Given the description of an element on the screen output the (x, y) to click on. 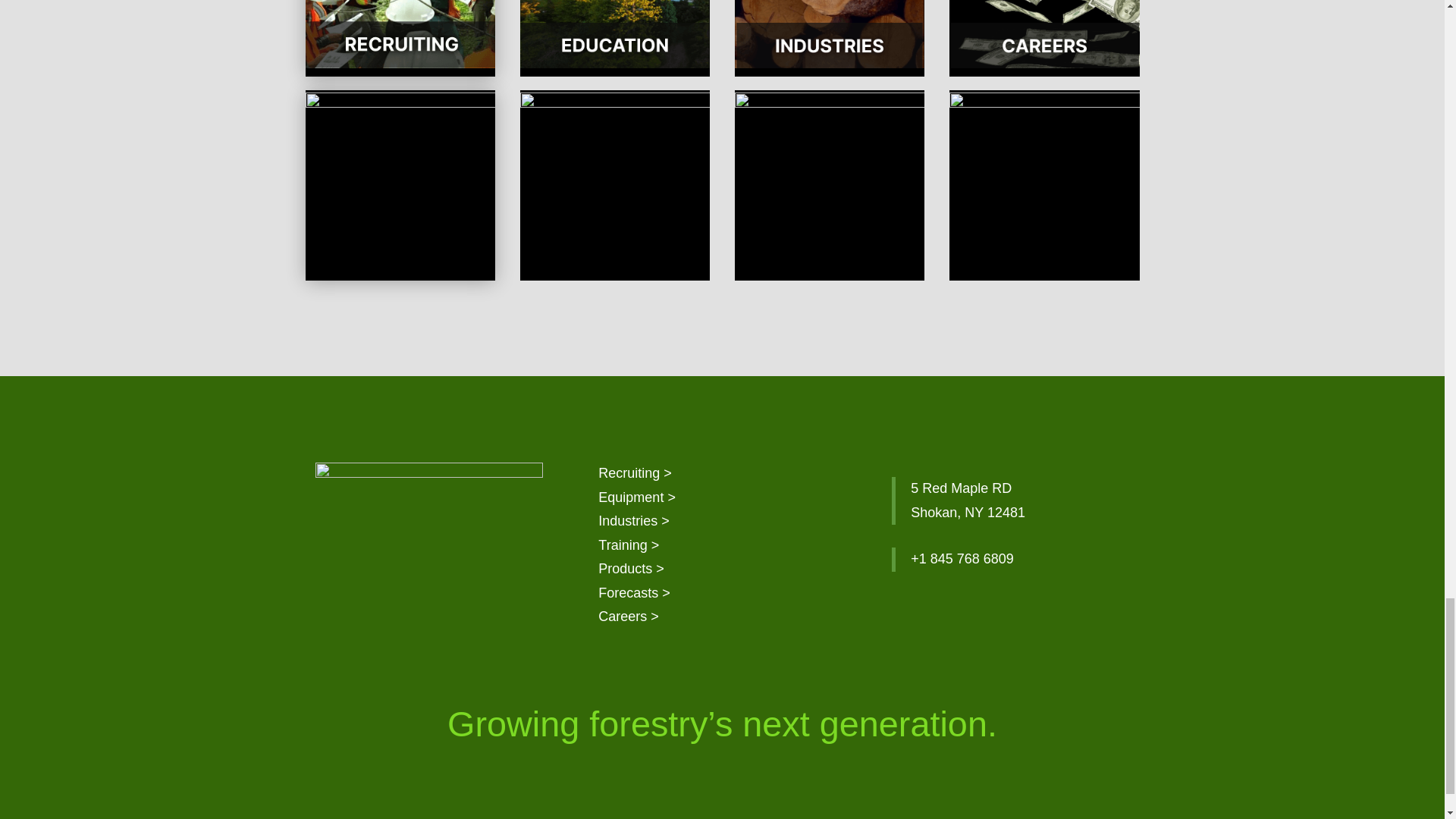
Recruiting Information (634, 473)
Training Information (628, 544)
Products (630, 568)
Industries (633, 520)
Career Information (628, 616)
Equipment Information (636, 497)
Forcasts (633, 592)
